Given the description of an element on the screen output the (x, y) to click on. 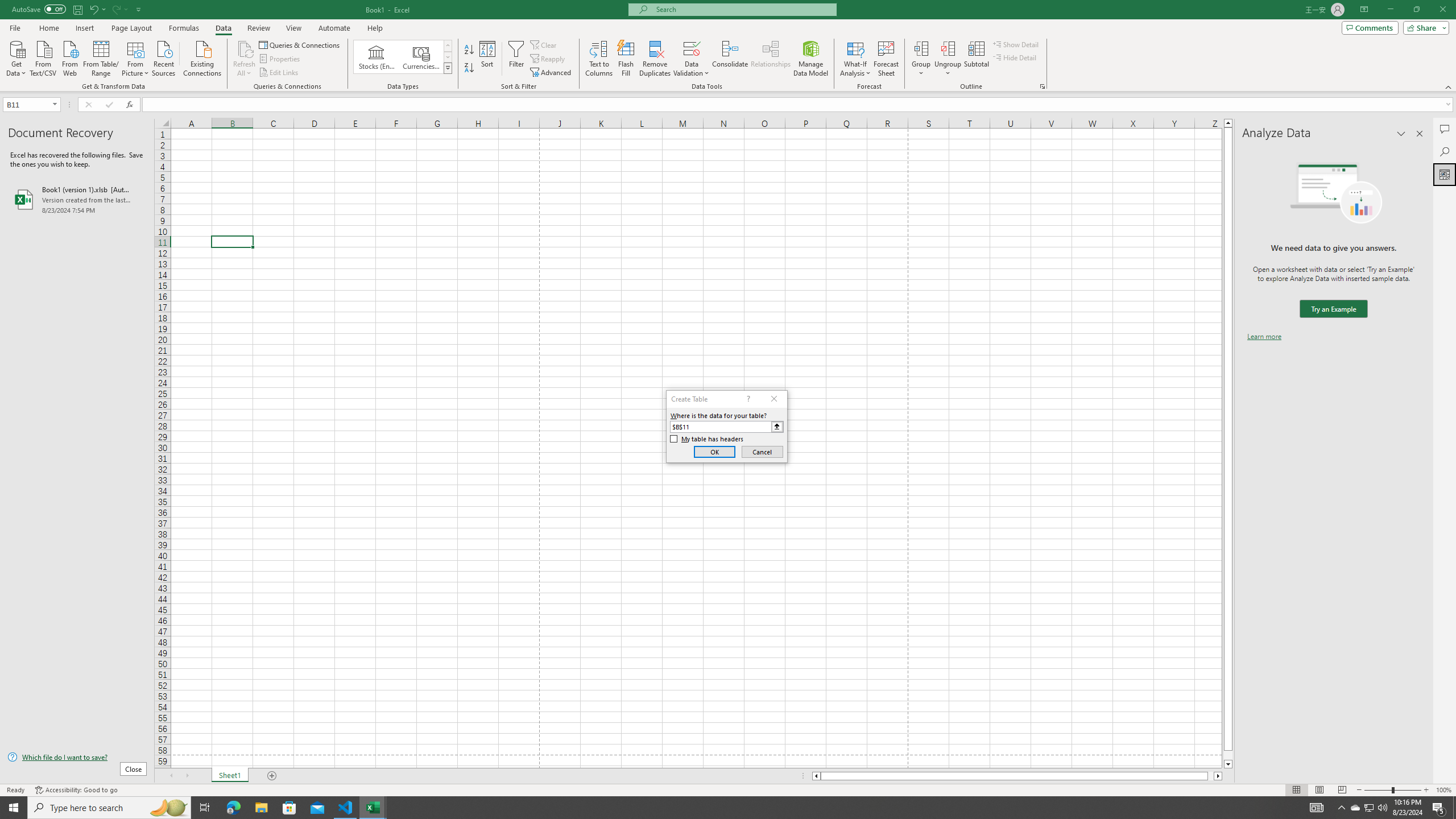
We need data to give you answers. Try an Example (1333, 308)
Existing Connections (202, 57)
From Picture (135, 57)
Hide Detail (1014, 56)
What-If Analysis (855, 58)
Formula Bar (799, 104)
